Given the description of an element on the screen output the (x, y) to click on. 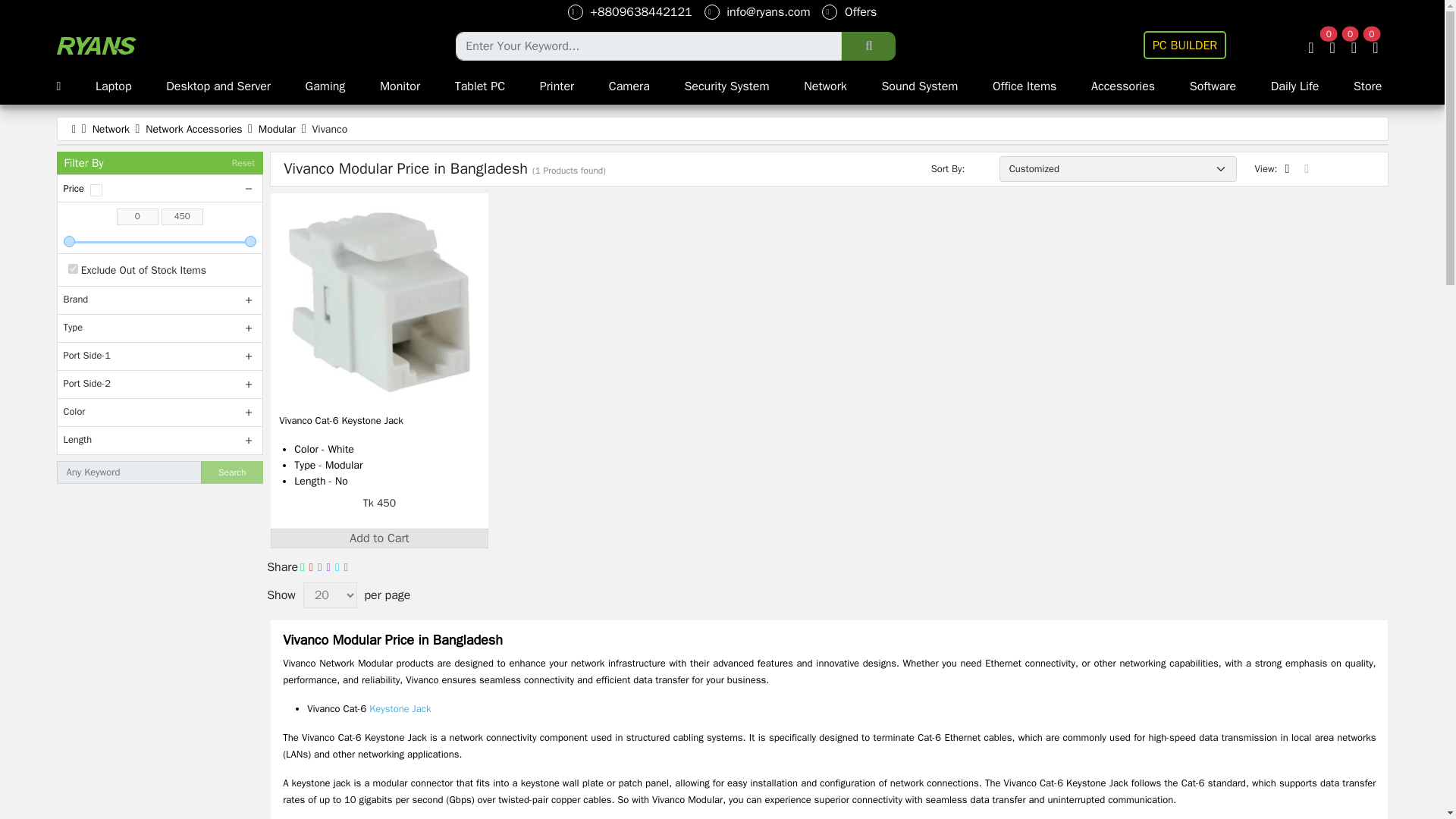
Laptop (113, 86)
  Offers (848, 12)
PC BUILDER (1183, 44)
1 (73, 268)
0 (137, 216)
on (94, 190)
450 (160, 241)
Reset (243, 163)
0 (160, 241)
450 (182, 216)
